Given the description of an element on the screen output the (x, y) to click on. 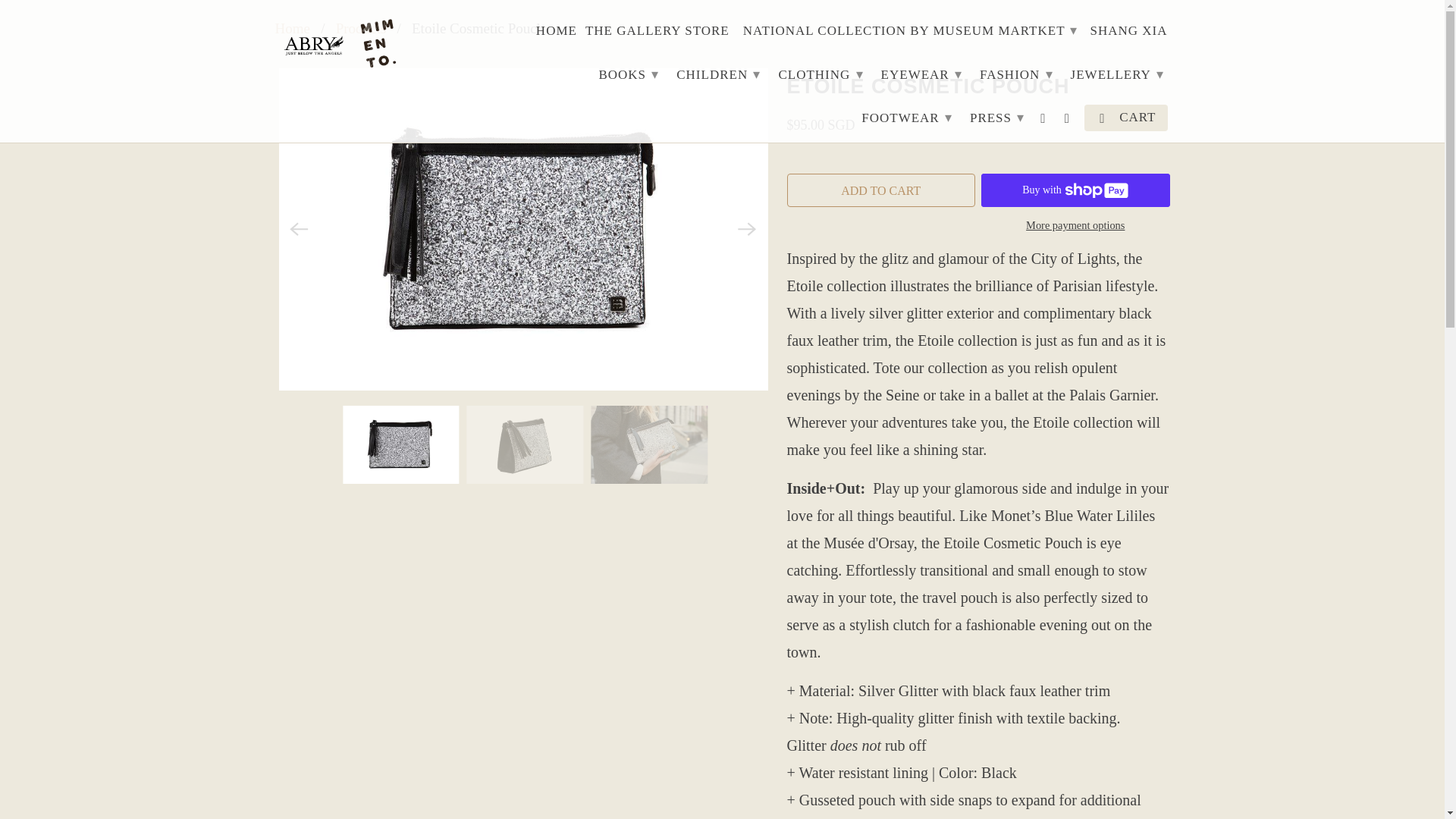
ABRY (342, 45)
Products (361, 28)
ABRY (291, 28)
